Given the description of an element on the screen output the (x, y) to click on. 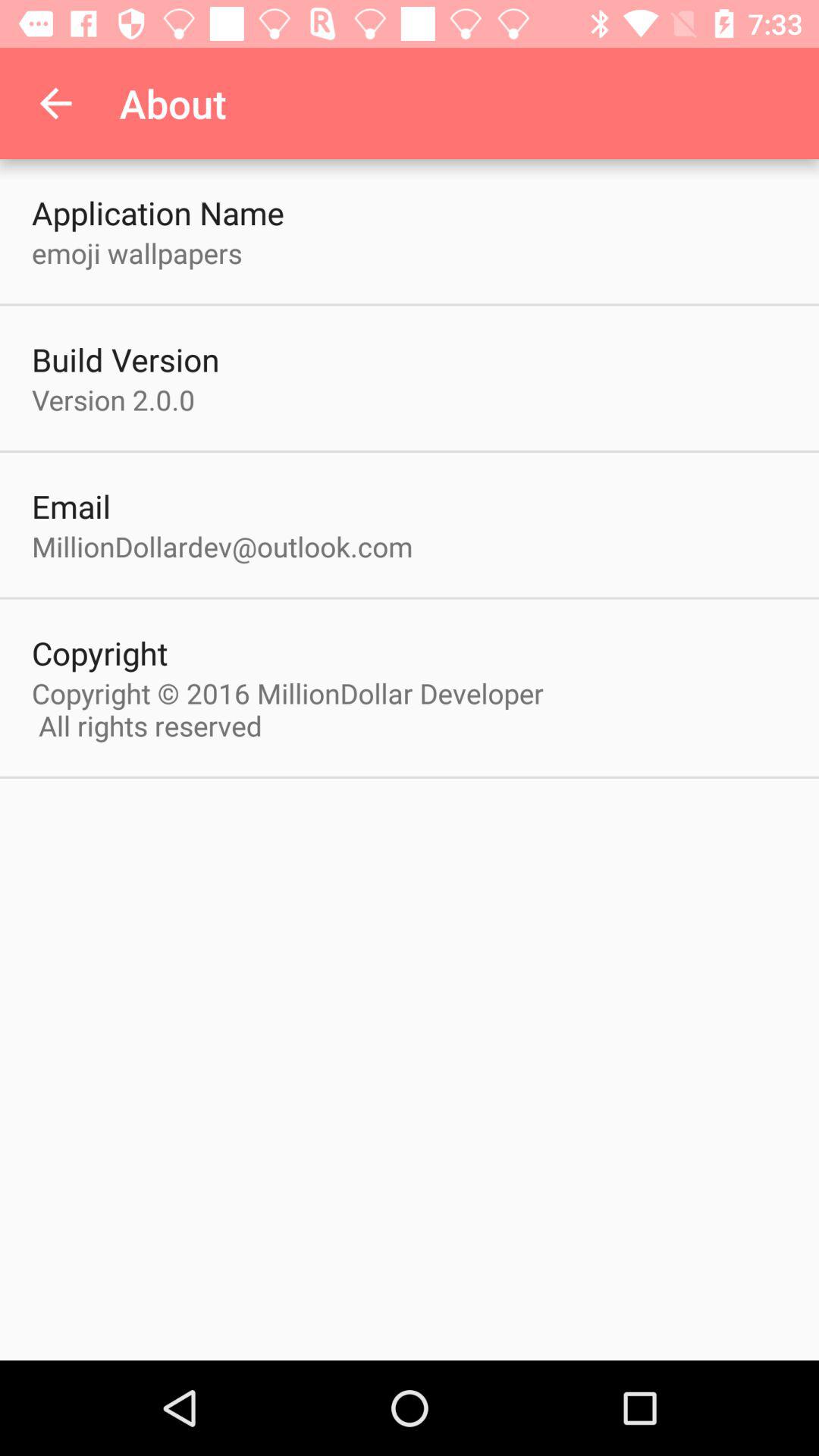
turn off the icon below the build version icon (113, 399)
